Given the description of an element on the screen output the (x, y) to click on. 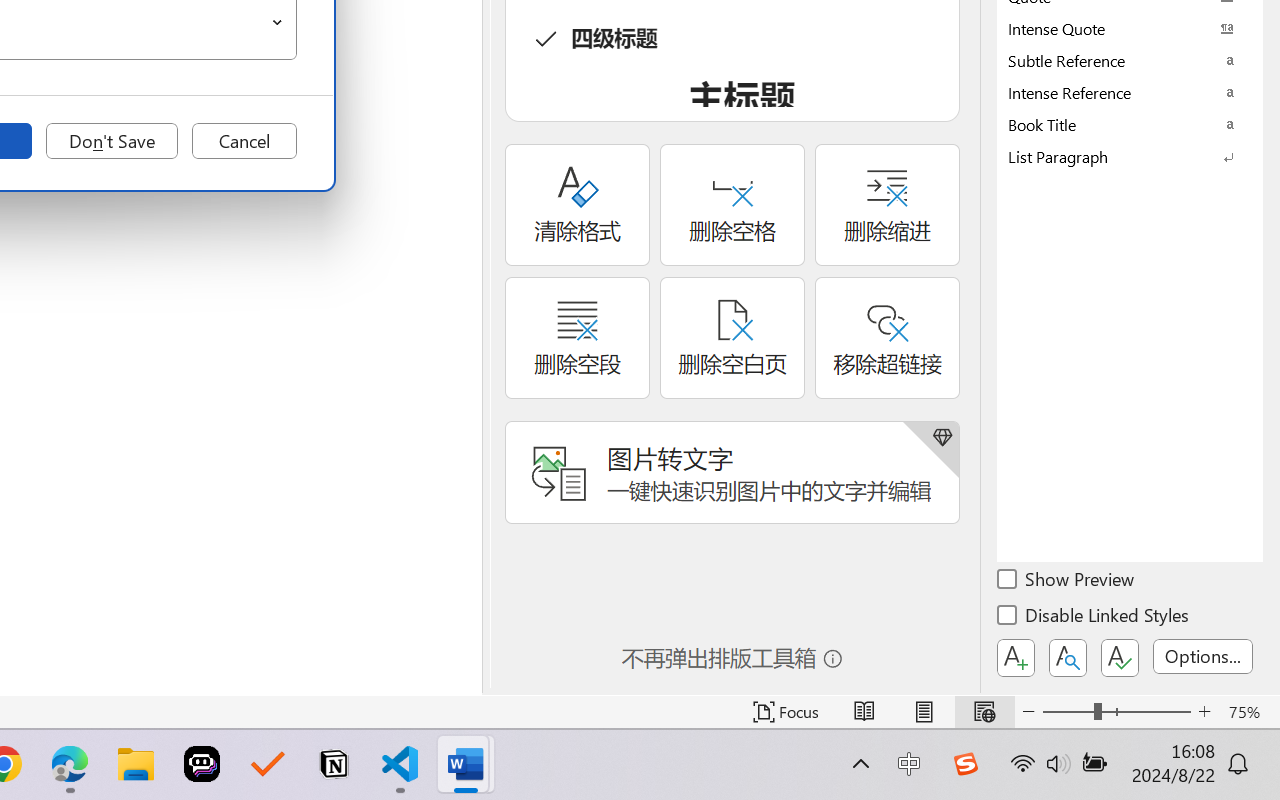
Focus  (786, 712)
List Paragraph (1130, 156)
Show Preview (1067, 582)
Read Mode (864, 712)
Disable Linked Styles (1094, 618)
